Given the description of an element on the screen output the (x, y) to click on. 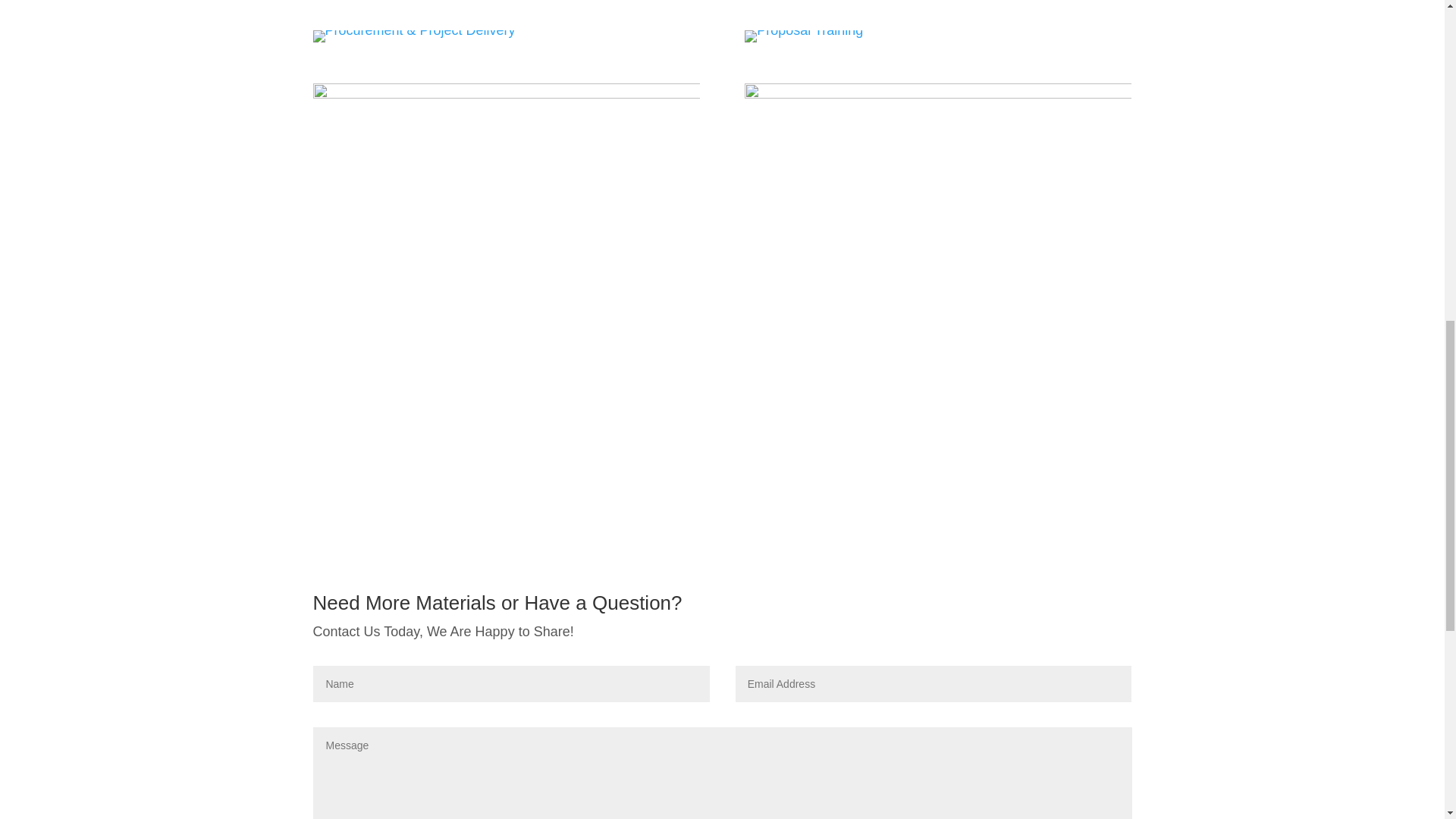
PROCUREMENT N (414, 36)
PROPOSAL N (803, 36)
